Given the description of an element on the screen output the (x, y) to click on. 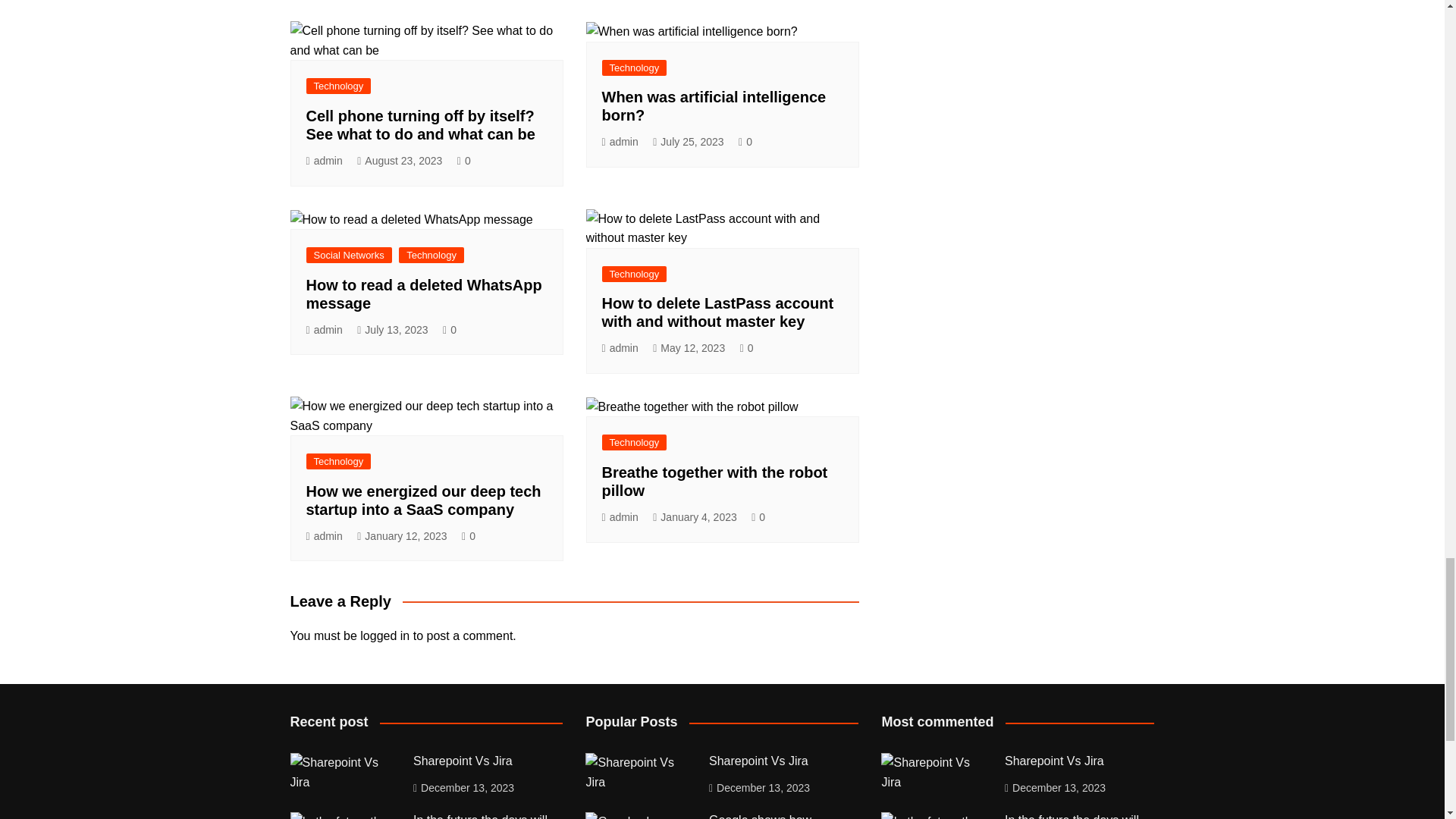
Technology (634, 67)
admin (323, 160)
August 23, 2023 (399, 160)
Technology (338, 85)
admin (620, 141)
0 (463, 160)
July 25, 2023 (687, 141)
When was artificial intelligence born? (714, 105)
